Given the description of an element on the screen output the (x, y) to click on. 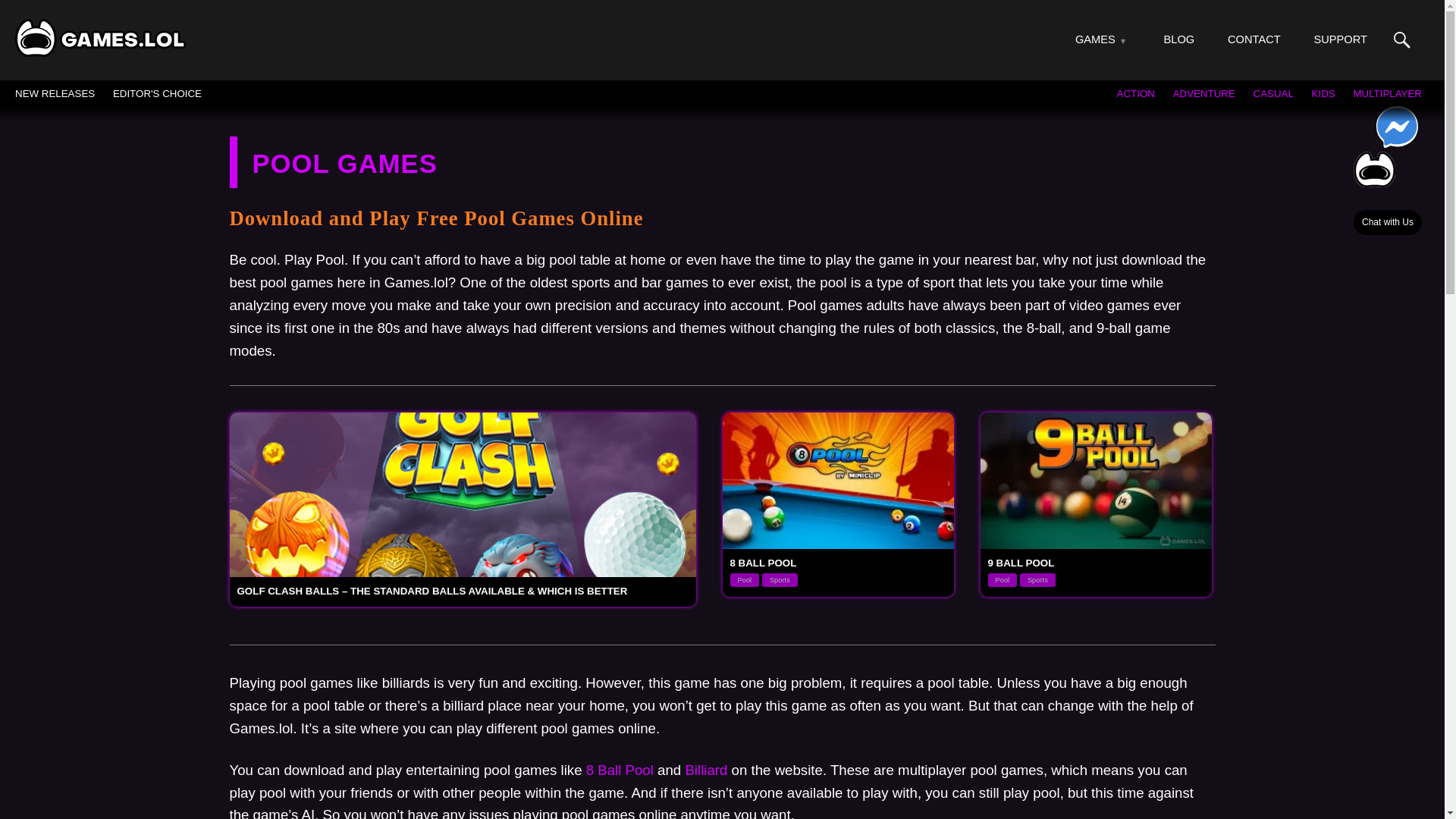
Sports (1037, 580)
NEW RELEASES (54, 93)
ACTION (1135, 93)
CONTACT (1254, 39)
Pool (1001, 580)
Sports (779, 580)
SUPPORT (1340, 39)
GAMES (1095, 39)
EDITOR'S CHOICE (157, 93)
MULTIPLAYER (1387, 93)
